Given the description of an element on the screen output the (x, y) to click on. 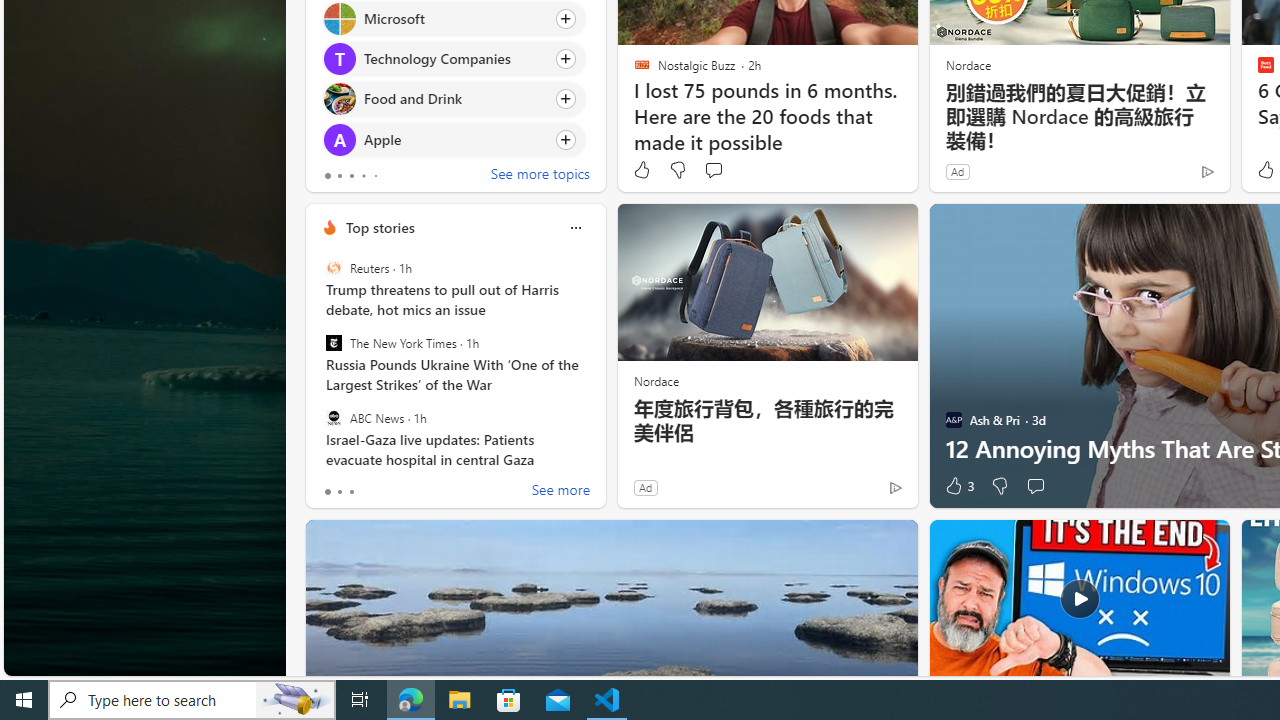
ABC News (333, 417)
tab-0 (327, 491)
Click to follow topic Microsoft (453, 18)
The New York Times (333, 343)
Click to follow topic Apple (453, 138)
tab-3 (363, 175)
Class: icon-img (575, 228)
See more topics (540, 175)
Click to follow topic Food and Drink (453, 99)
tab-1 (338, 491)
